Given the description of an element on the screen output the (x, y) to click on. 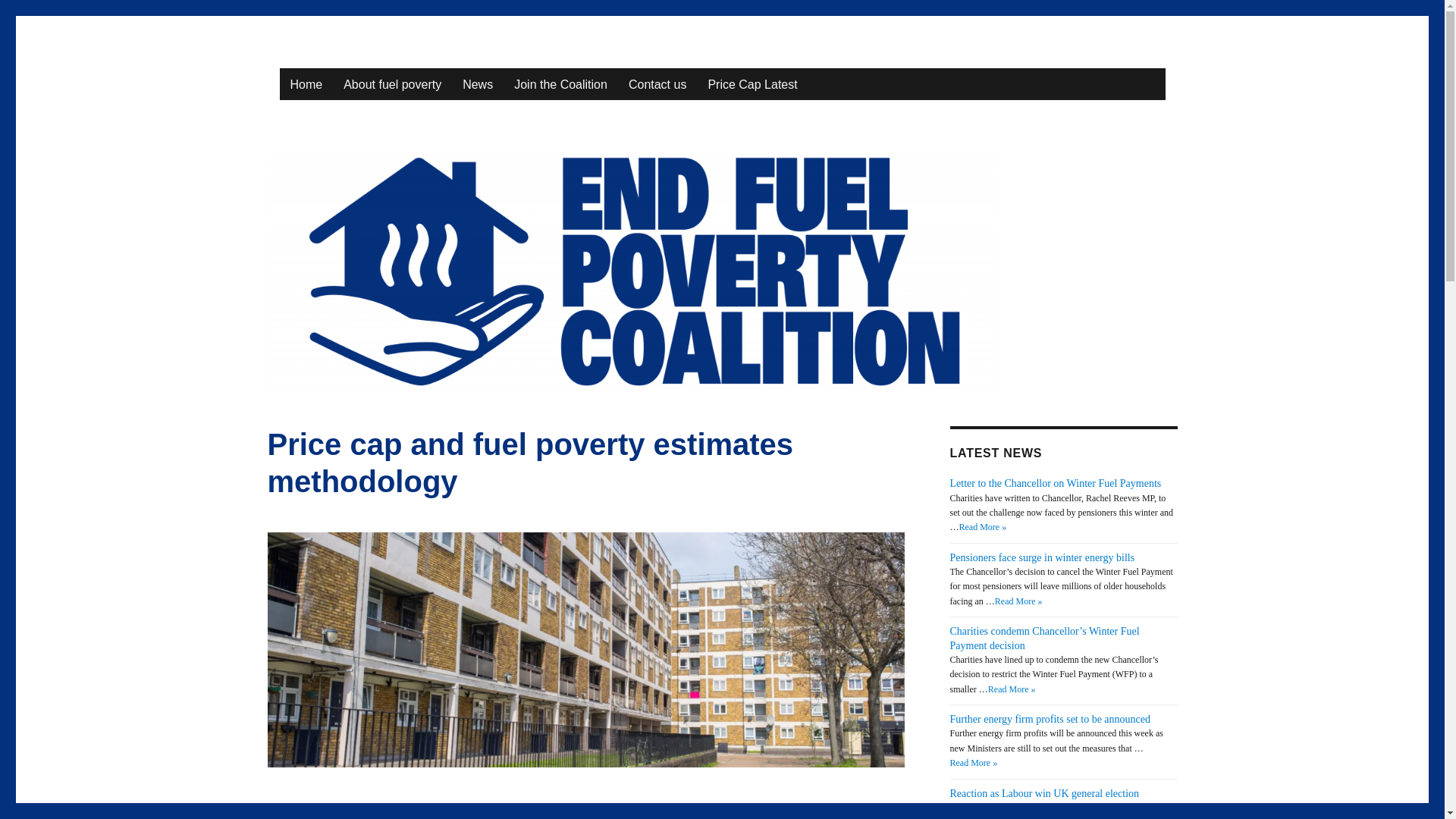
Reaction as Labour win UK general election (1043, 793)
Contact us (657, 83)
Price Cap Latest (752, 83)
News (477, 83)
Join the Coalition (560, 83)
different ways of measuring (383, 809)
Home (306, 83)
End Fuel Poverty Coalition (467, 60)
Letter to the Chancellor on Winter Fuel Payments (1054, 482)
Further energy firm profits set to be announced (1049, 718)
